Given the description of an element on the screen output the (x, y) to click on. 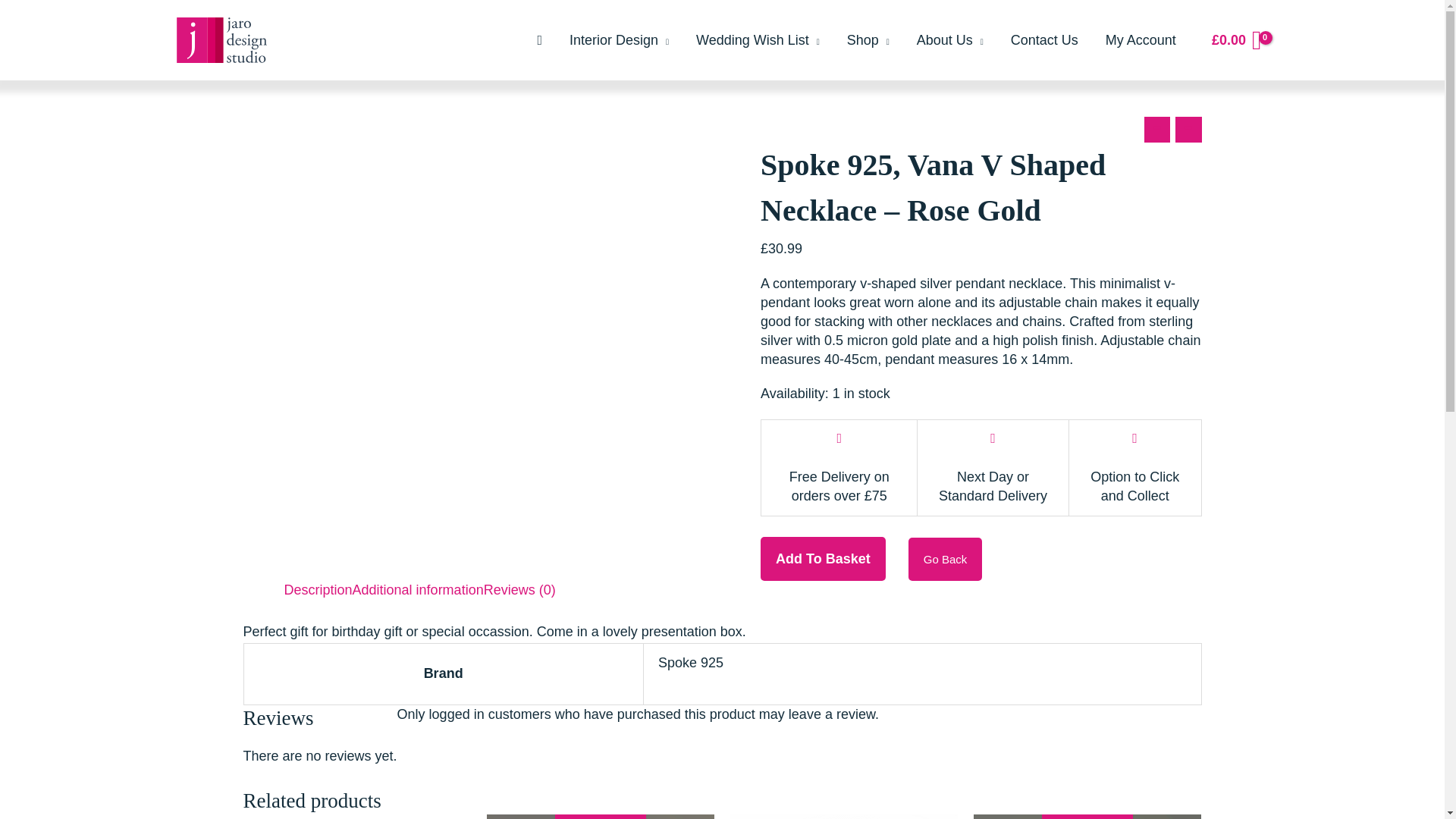
Wedding Gift List and Gift Registry by Wedding Wish List (757, 39)
Contact Us (1044, 39)
My Account (1140, 39)
Jaro Design online shop (867, 39)
Interior Design by Jaro Design (619, 39)
Wedding Wish List (757, 39)
About Us (949, 39)
Shop (867, 39)
Interior Design (619, 39)
